Given the description of an element on the screen output the (x, y) to click on. 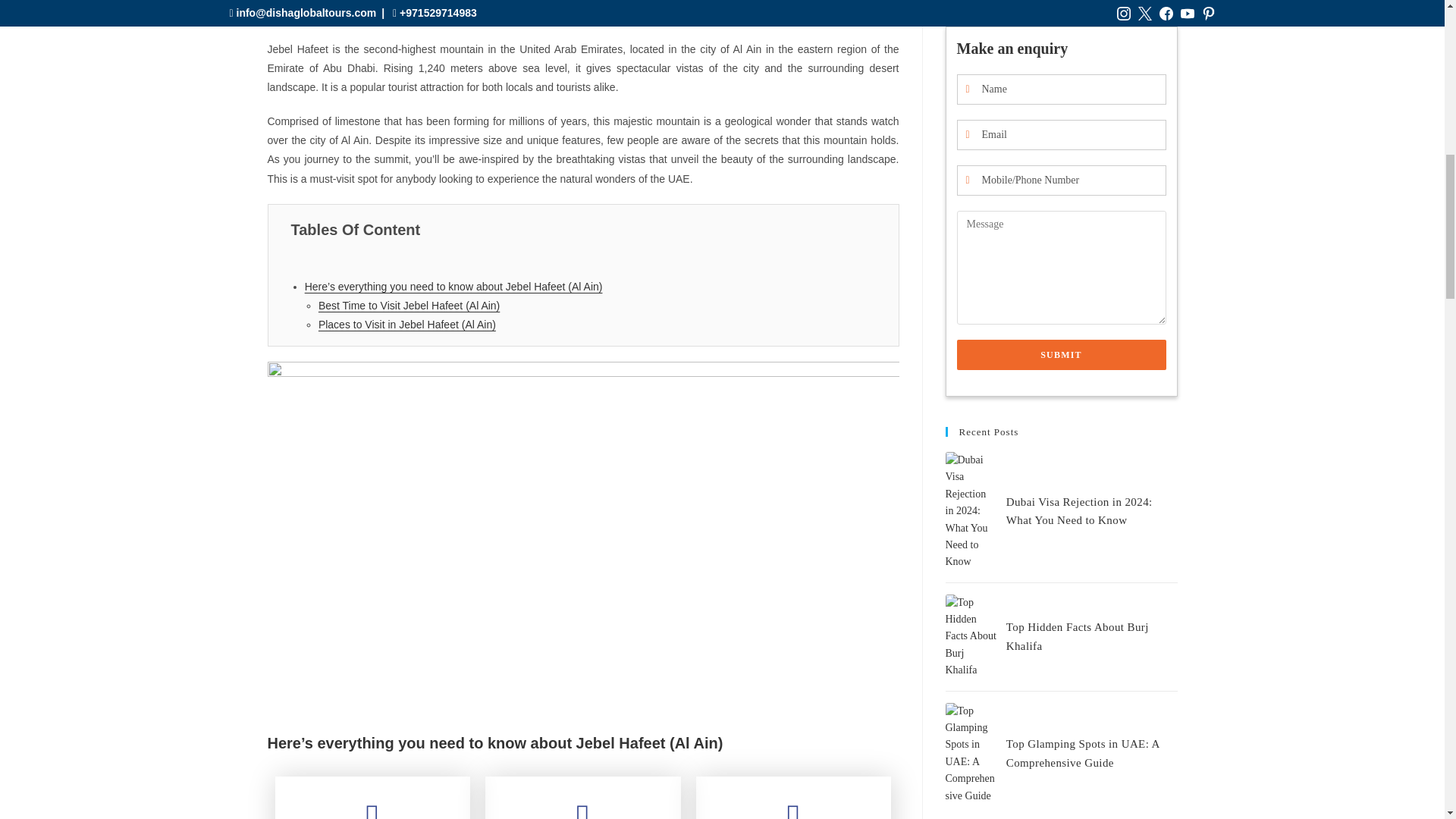
submit (1061, 241)
Posts by admin (411, 2)
